Given the description of an element on the screen output the (x, y) to click on. 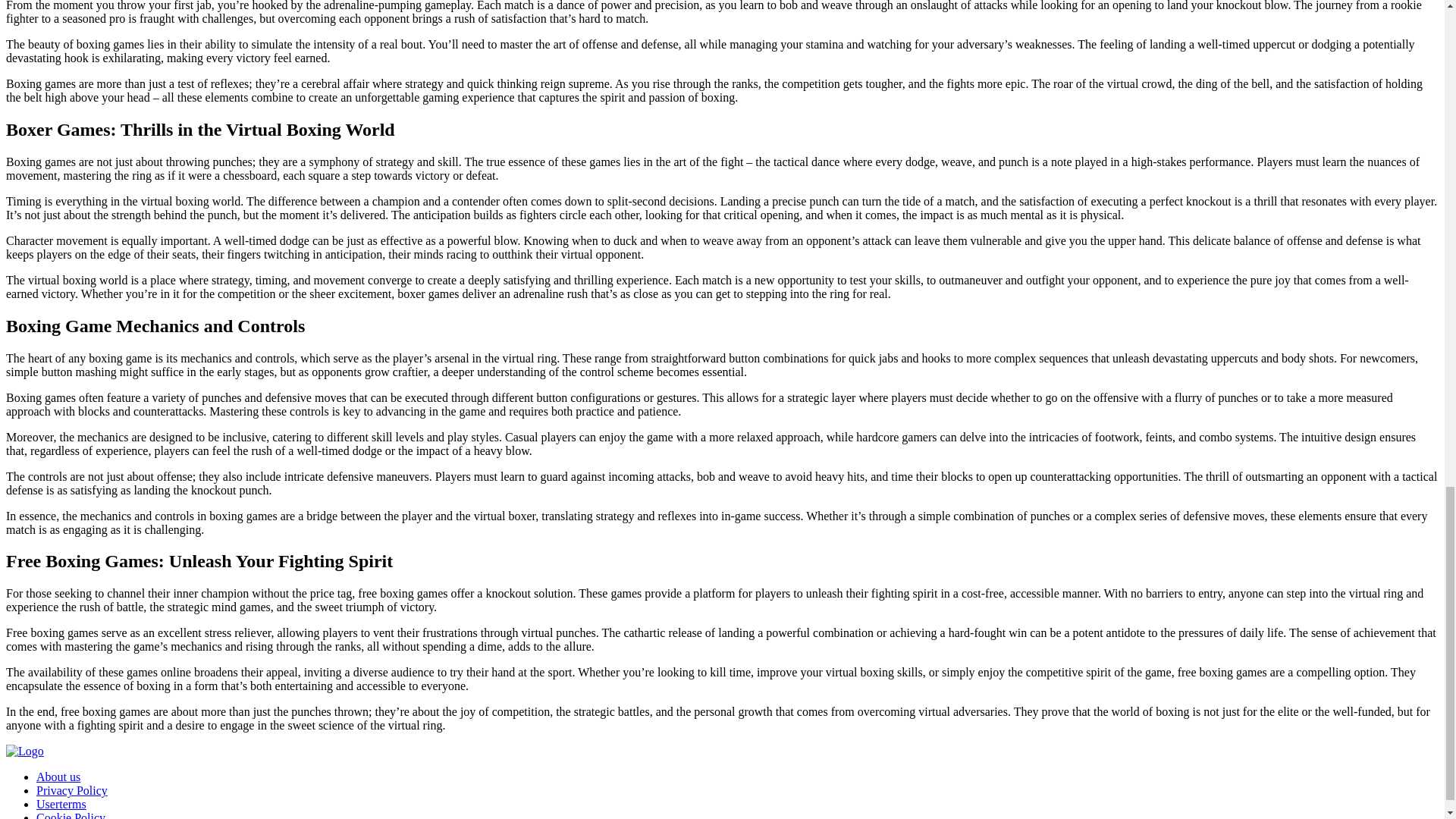
Privacy Policy (71, 789)
About us (58, 776)
Userterms (60, 803)
